Given the description of an element on the screen output the (x, y) to click on. 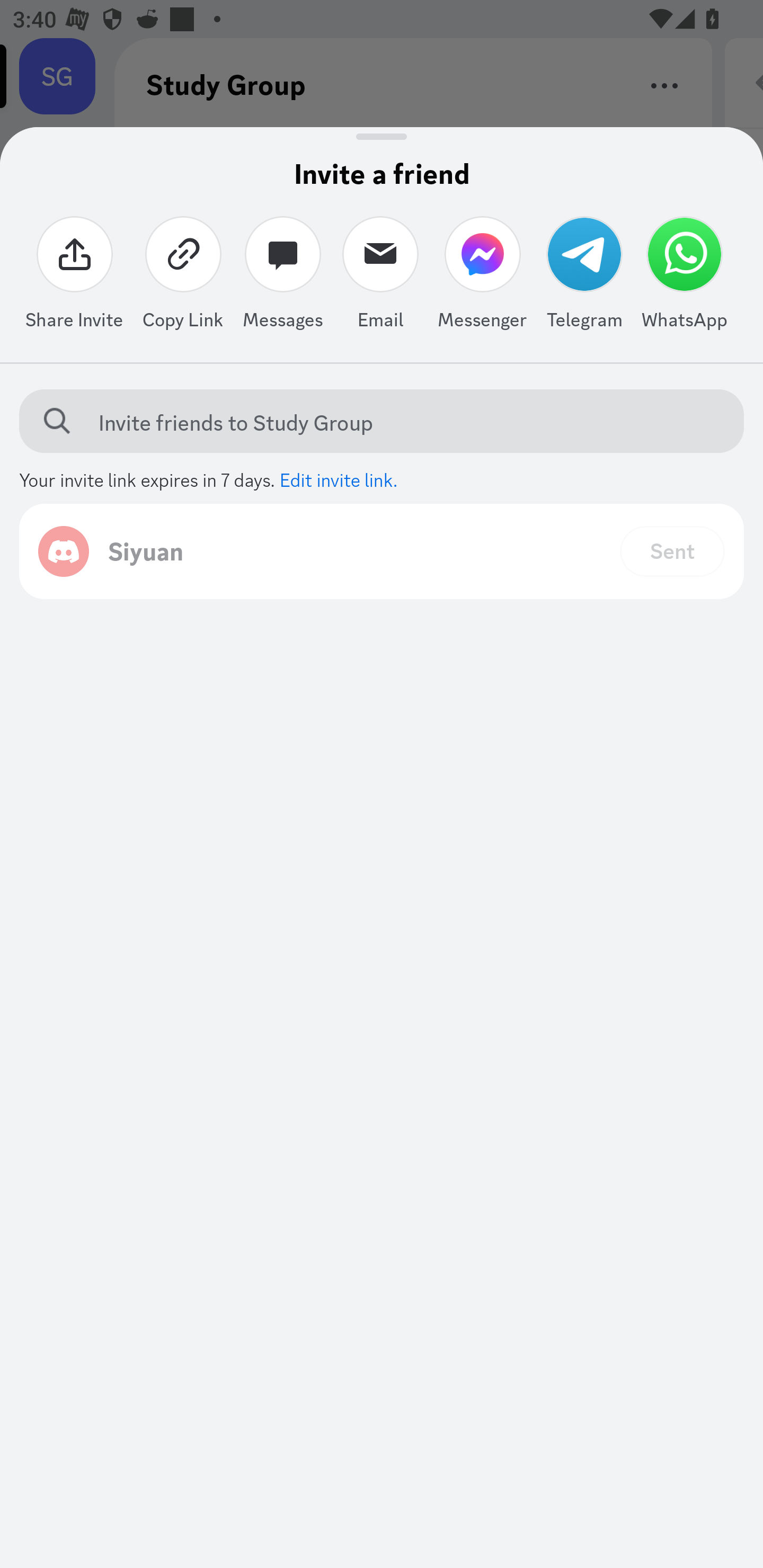
Share Invite (74, 276)
Copy Link (182, 276)
Messages (282, 276)
Email (380, 276)
Messenger (482, 276)
Telegram (584, 276)
WhatsApp (684, 276)
Invite friends to Study Group (397, 422)
Edit invite link. (339, 477)
Siyuan, Sent Siyuan Sent Sent (381, 550)
